Given the description of an element on the screen output the (x, y) to click on. 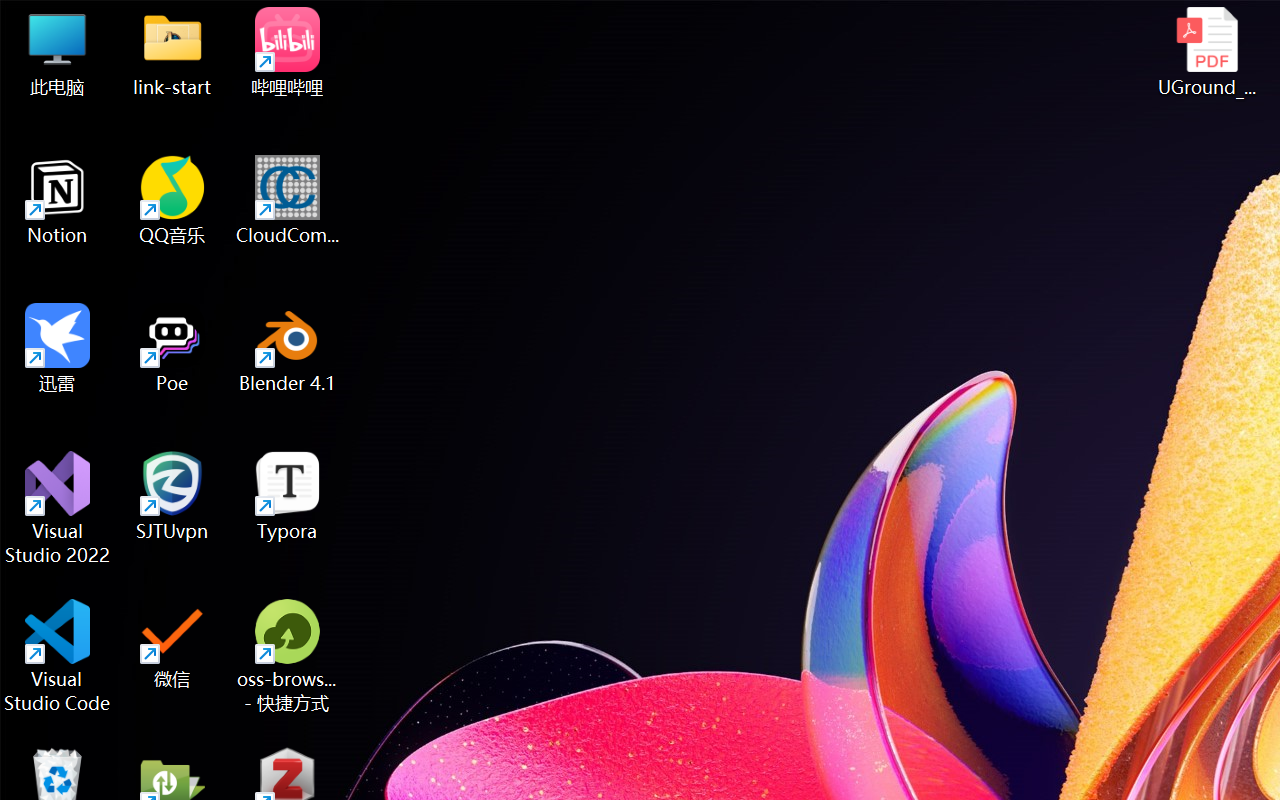
Visual Studio 2022 (57, 508)
Blender 4.1 (287, 348)
Typora (287, 496)
SJTUvpn (172, 496)
UGround_paper.pdf (1206, 52)
CloudCompare (287, 200)
Visual Studio Code (57, 656)
